Given the description of an element on the screen output the (x, y) to click on. 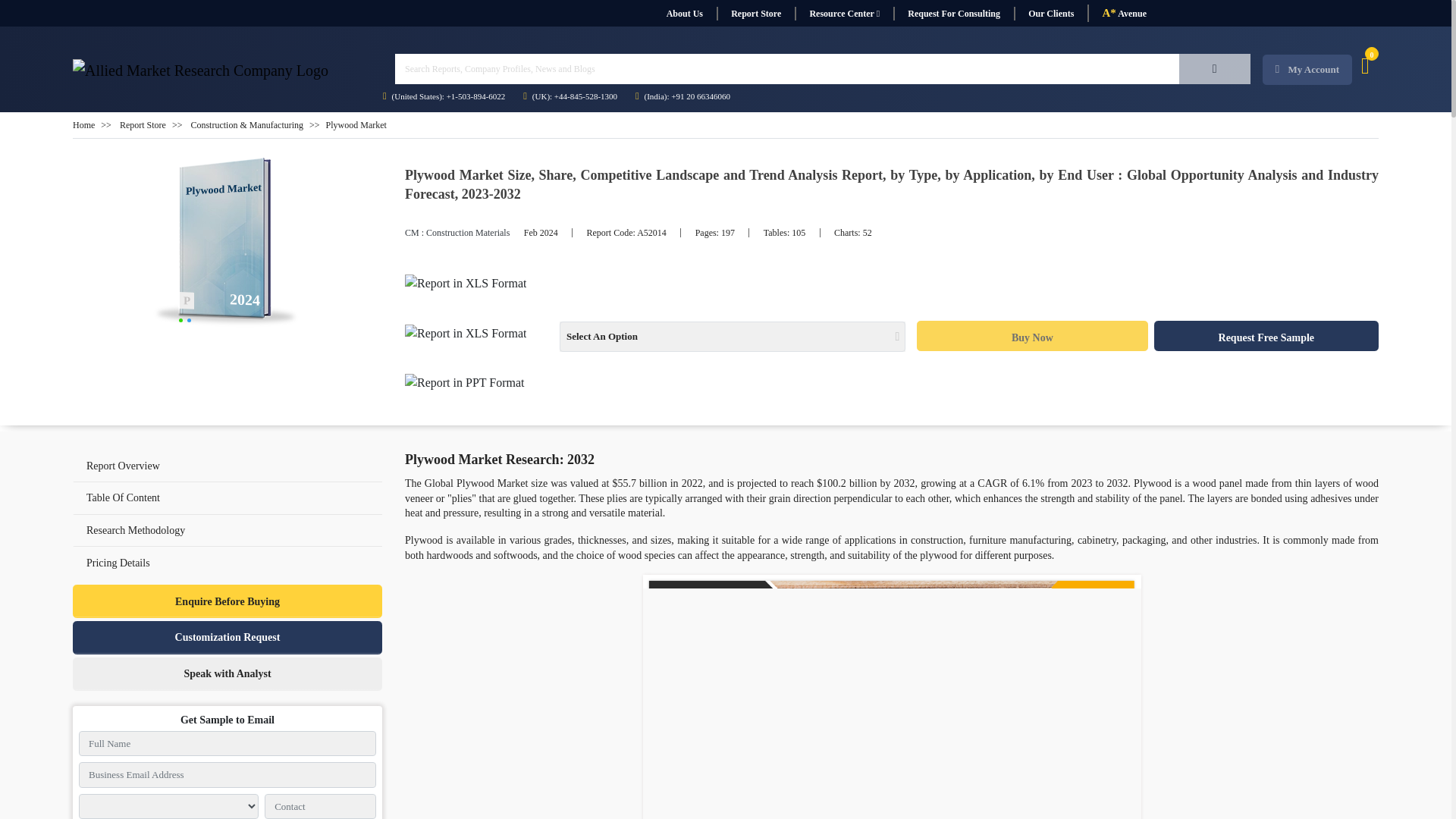
Home (83, 124)
Research Methodology (134, 530)
Pricing Details (226, 562)
Table Of Content (122, 497)
Report Store (755, 13)
Request Free Sample (1266, 336)
Our Clients (1050, 13)
Buy Now (1032, 336)
Customization Request (226, 637)
Request For Consulting (953, 13)
Plywood Market (227, 242)
Allied Market Research (200, 69)
About Us (684, 13)
Report Store (142, 124)
Speak with Analyst (226, 674)
